Given the description of an element on the screen output the (x, y) to click on. 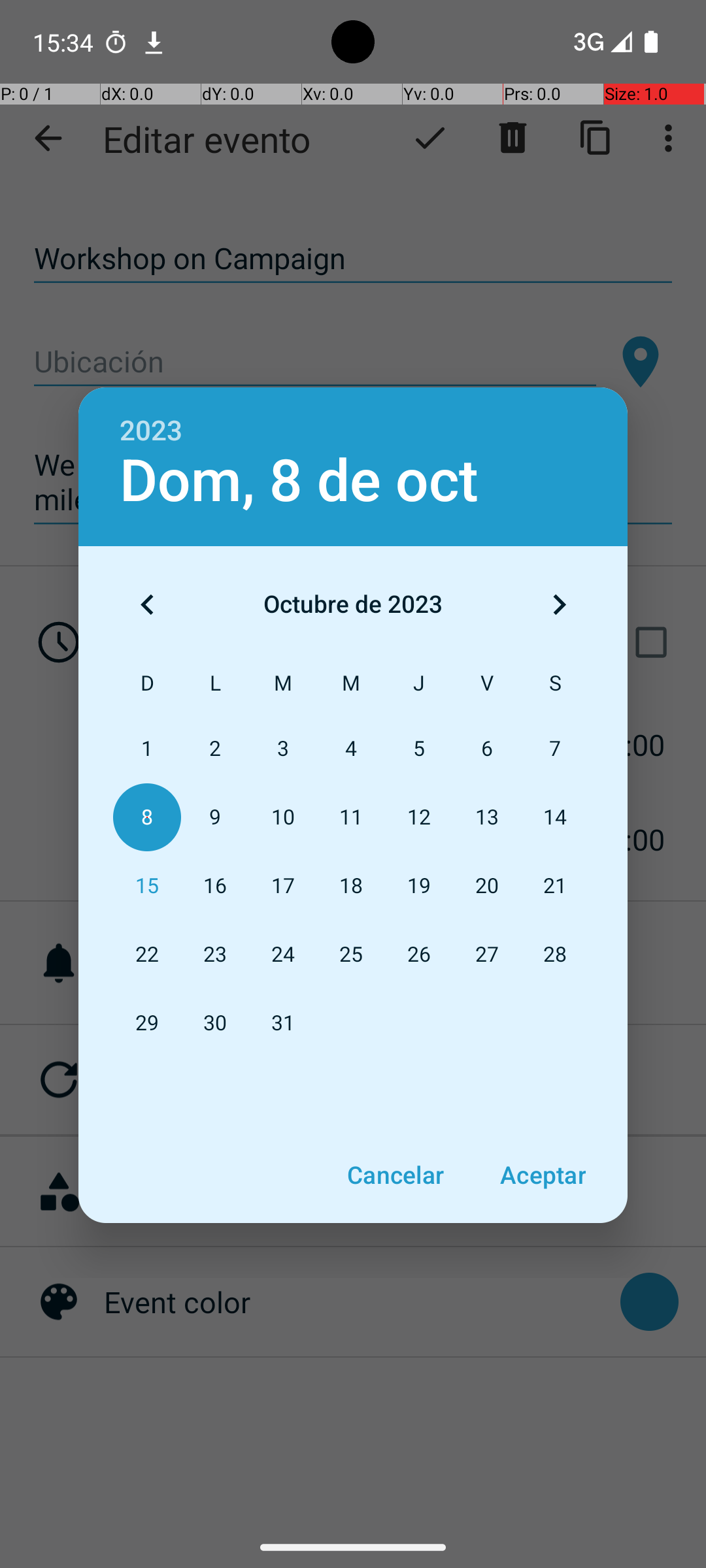
Dom, 8 de oct Element type: android.widget.TextView (298, 480)
Mes anterior Element type: android.widget.ImageButton (146, 604)
Mes siguiente Element type: android.widget.ImageButton (558, 604)
